Given the description of an element on the screen output the (x, y) to click on. 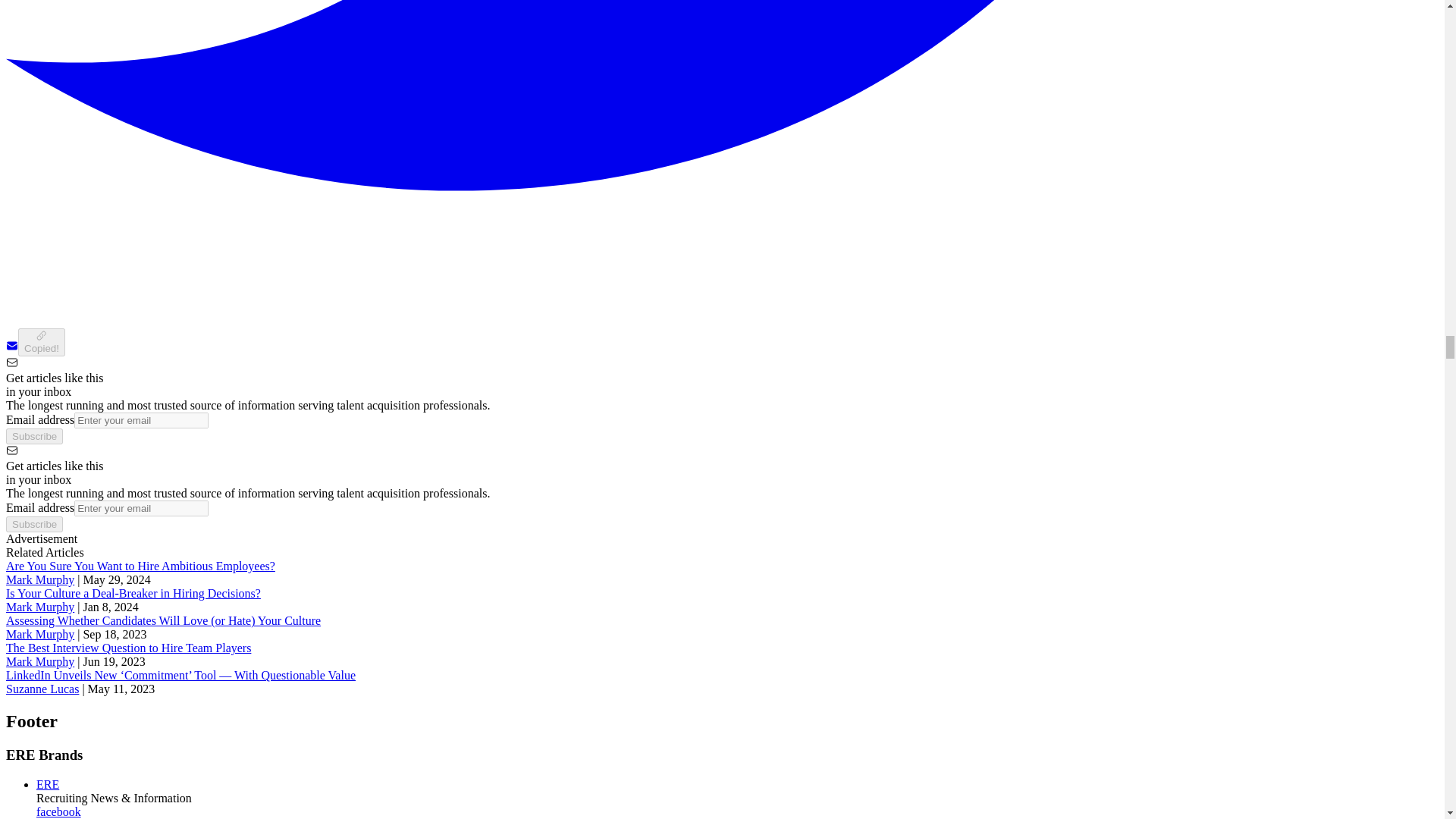
Mark Murphy (39, 661)
Subscribe (33, 436)
Are You Sure You Want to Hire Ambitious Employees? (140, 565)
Mark Murphy (39, 579)
Suzanne Lucas (41, 688)
Mark Murphy (39, 634)
Subscribe (33, 524)
Is Your Culture a Deal-Breaker in Hiring Decisions? (132, 593)
Copied! (41, 342)
The Best Interview Question to Hire Team Players (127, 647)
Mark Murphy (39, 606)
